Given the description of an element on the screen output the (x, y) to click on. 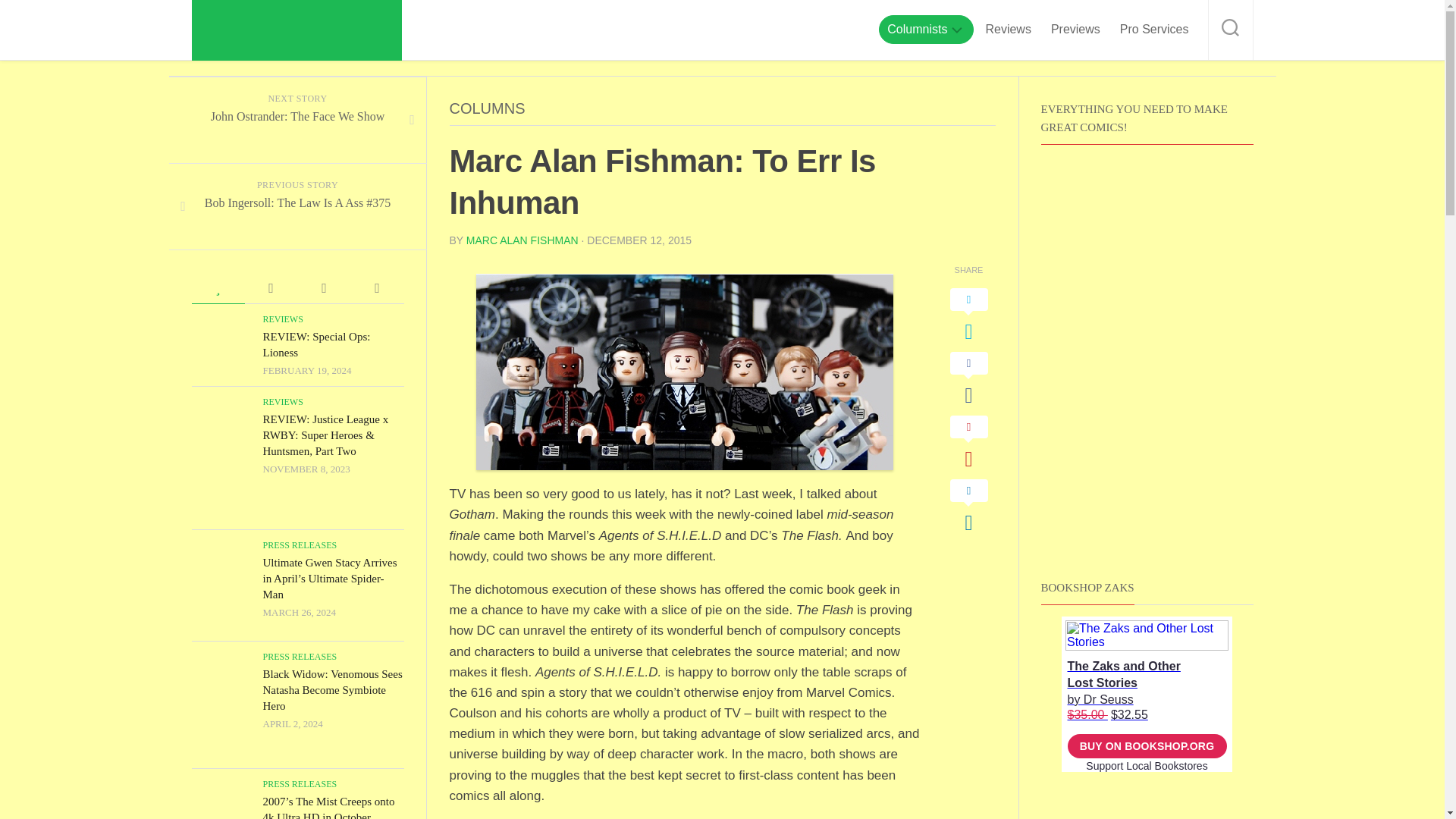
Popular Posts (217, 287)
Recent Posts (323, 287)
Pro Services (1154, 29)
COLUMNS (486, 108)
Columnists (916, 29)
Previews (1075, 29)
Posts by Marc Alan Fishman (521, 240)
Recent Comments (270, 287)
MARC ALAN FISHMAN (521, 240)
Tags (376, 287)
